Given the description of an element on the screen output the (x, y) to click on. 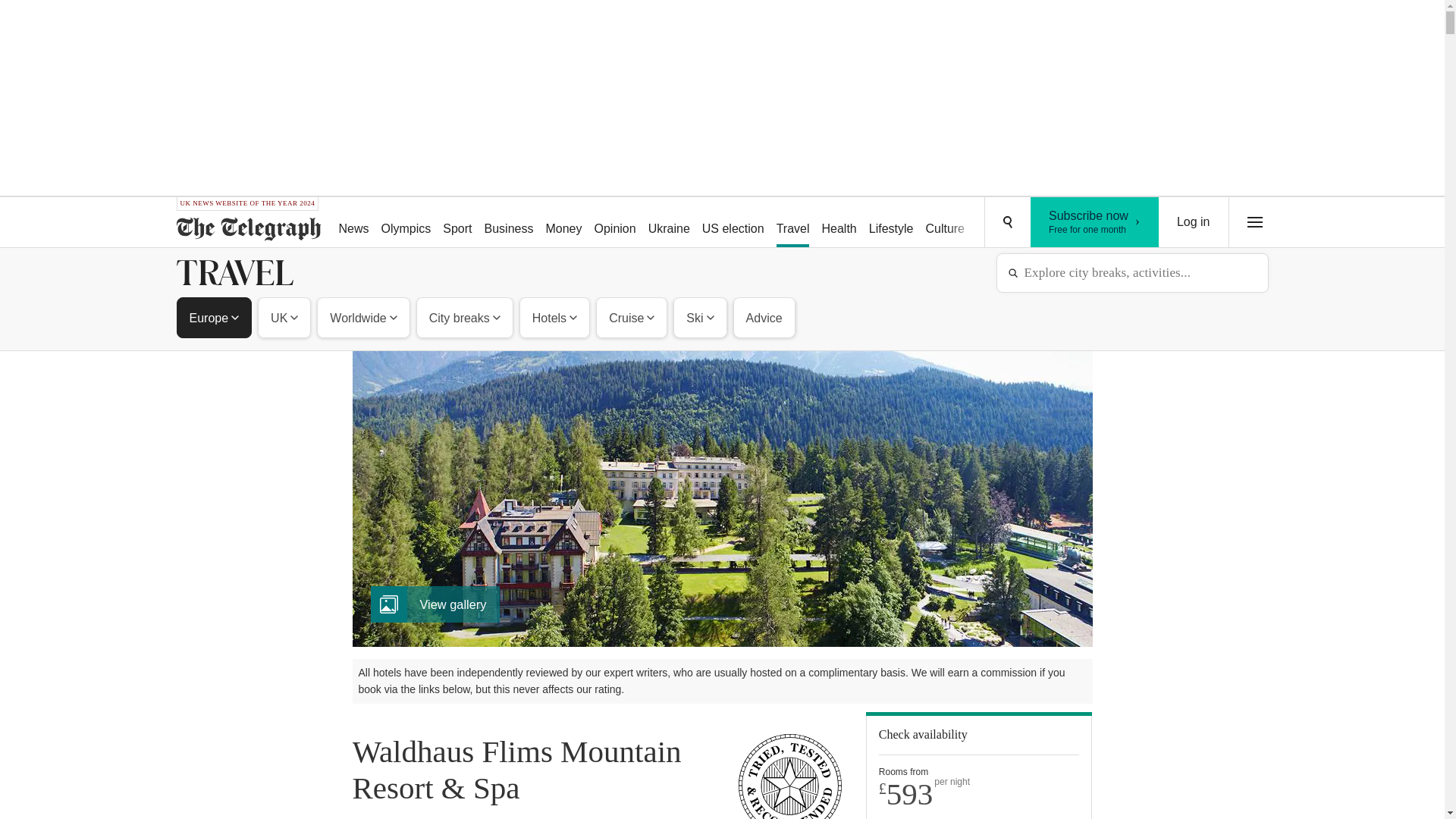
Worldwide (363, 317)
Ukraine (1094, 222)
Opinion (668, 223)
Puzzles (615, 223)
Lifestyle (998, 223)
Podcasts (891, 223)
Culture (1056, 223)
US election (944, 223)
Log in (732, 223)
